Given the description of an element on the screen output the (x, y) to click on. 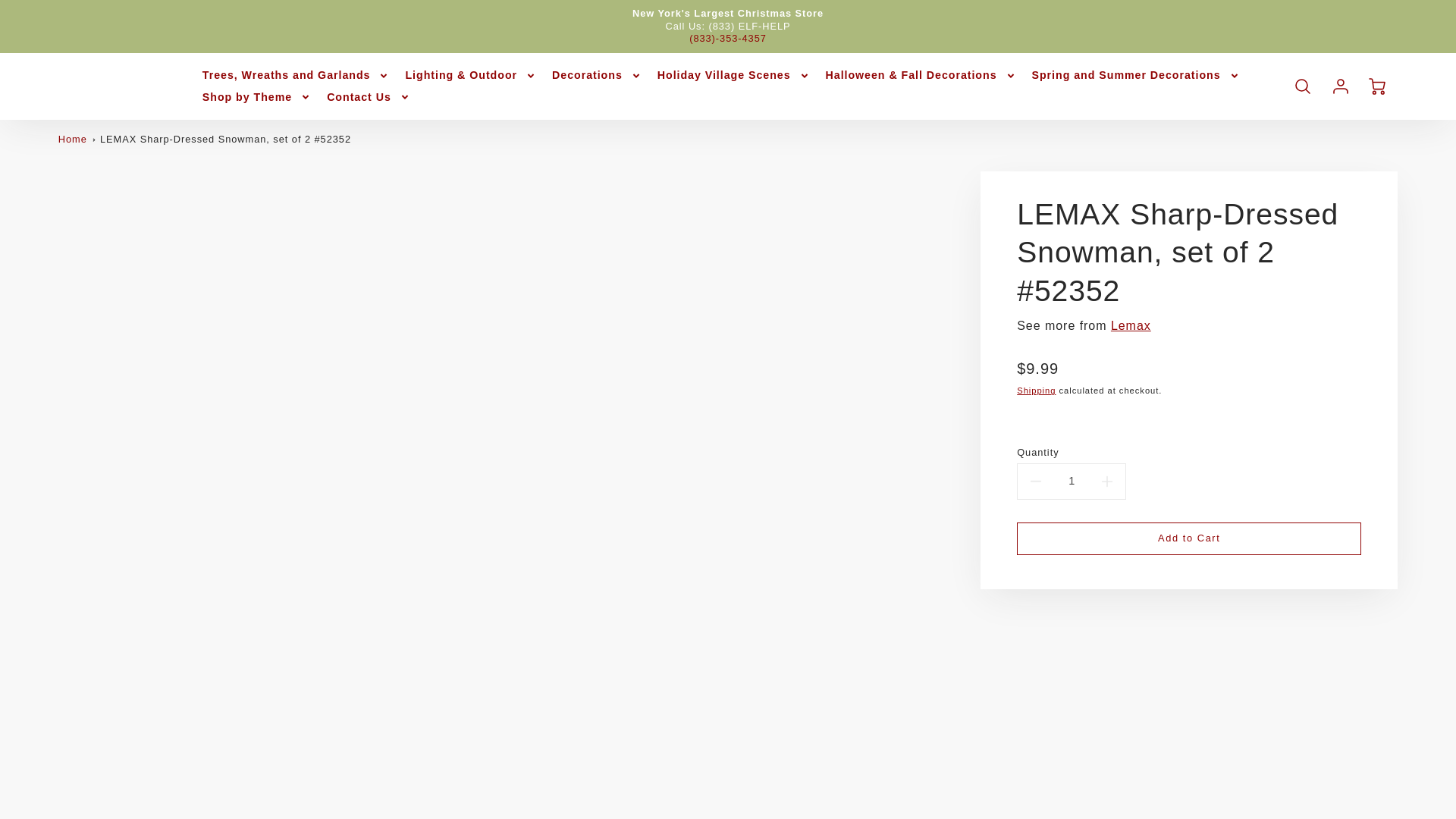
Decorations (596, 74)
Trees, Wreaths and Garlands (296, 74)
1 (1071, 481)
Lemax (1130, 325)
